Given the description of an element on the screen output the (x, y) to click on. 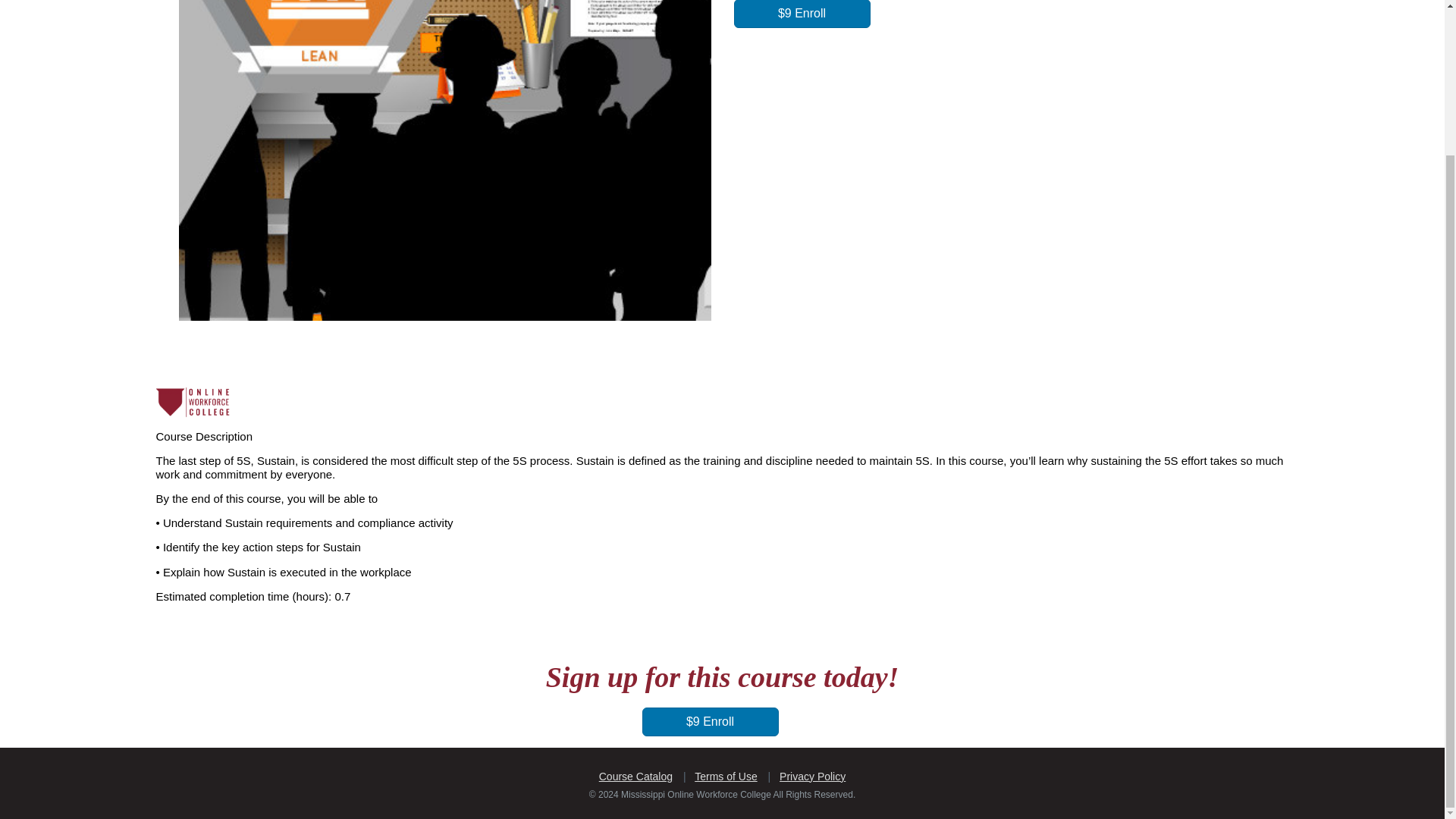
Course Catalog (635, 776)
Mississippi Online Workforce College (193, 402)
Privacy Policy (811, 776)
Terms of Use (725, 776)
